Given the description of an element on the screen output the (x, y) to click on. 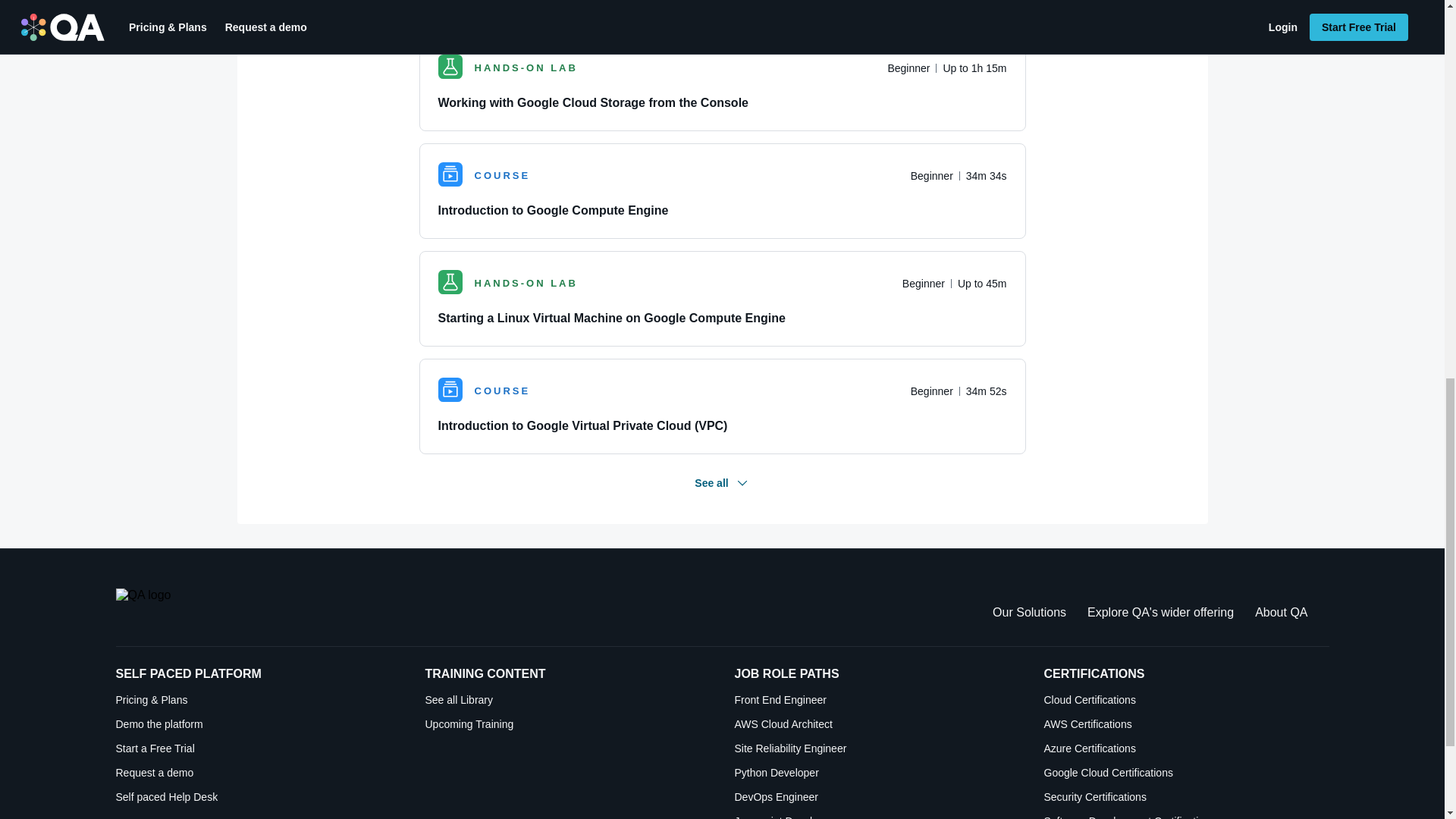
AWS Cloud Architect (876, 724)
Front End Engineer (876, 699)
See all Library (567, 699)
Request a demo (257, 772)
Demo the platform (257, 724)
Upcoming Training (567, 724)
Our Solutions (1028, 612)
See all (721, 482)
